Given the description of an element on the screen output the (x, y) to click on. 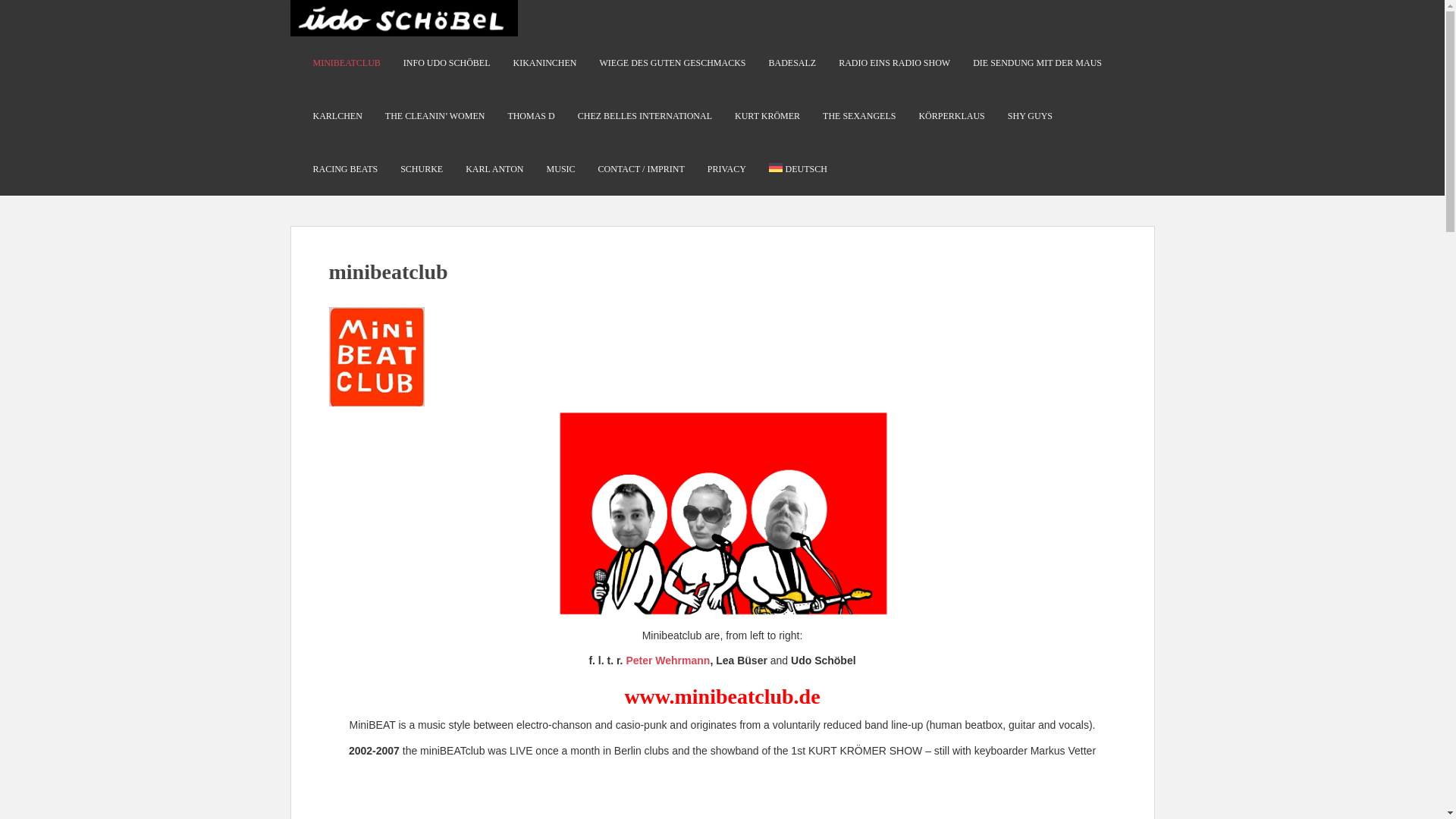
SCHURKE (421, 168)
CHEZ BELLES INTERNATIONAL (644, 115)
DEUTSCH (797, 168)
DIE SENDUNG MIT DER MAUS (1037, 62)
THOMAS D (530, 115)
RACING BEATS (345, 168)
YouTube video player (721, 797)
RADIO EINS RADIO SHOW (894, 62)
SHY GUYS (1029, 115)
MUSIC (561, 168)
